Given the description of an element on the screen output the (x, y) to click on. 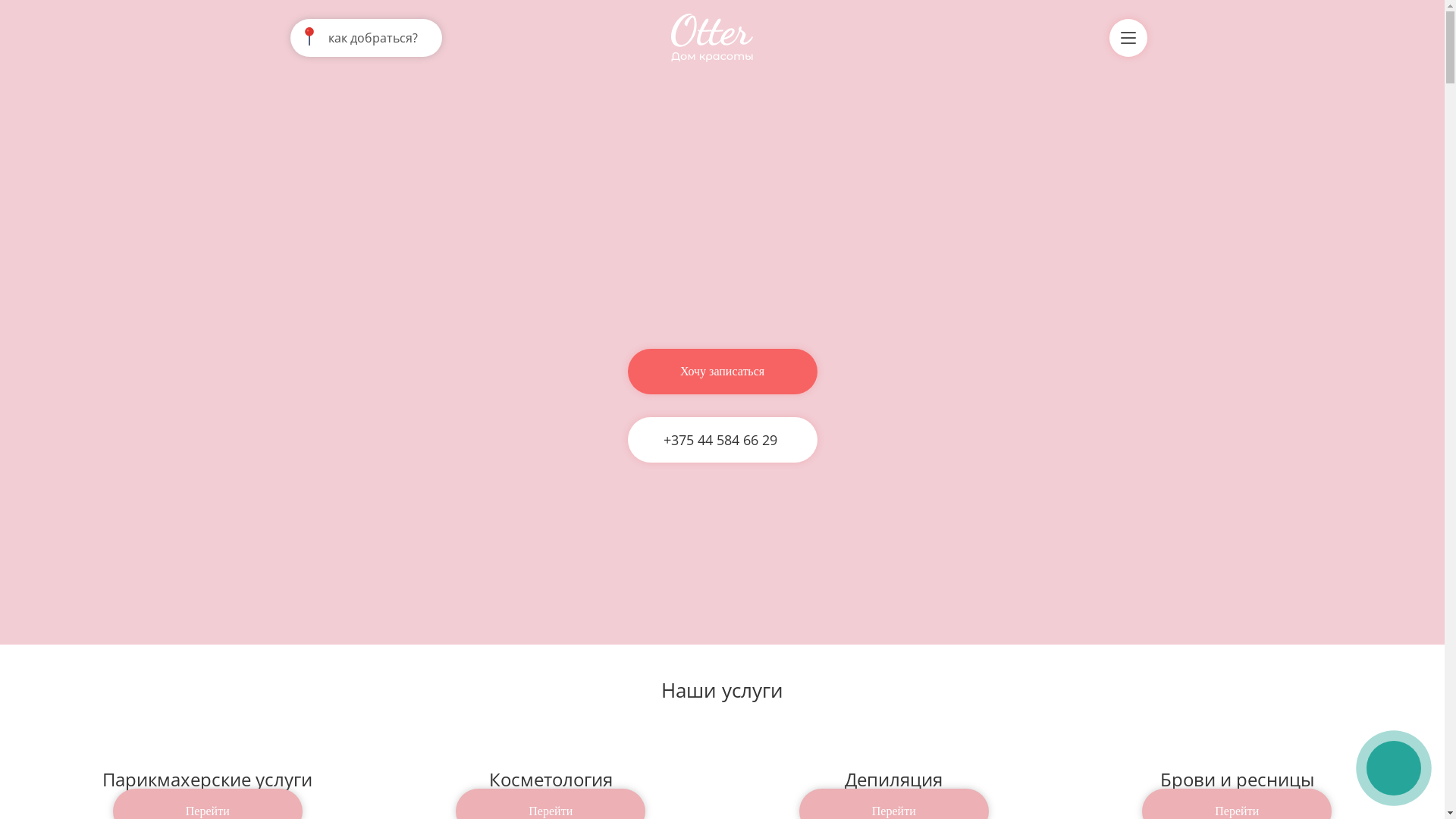
+375 44 584 66 29 Element type: text (717, 439)
